Given the description of an element on the screen output the (x, y) to click on. 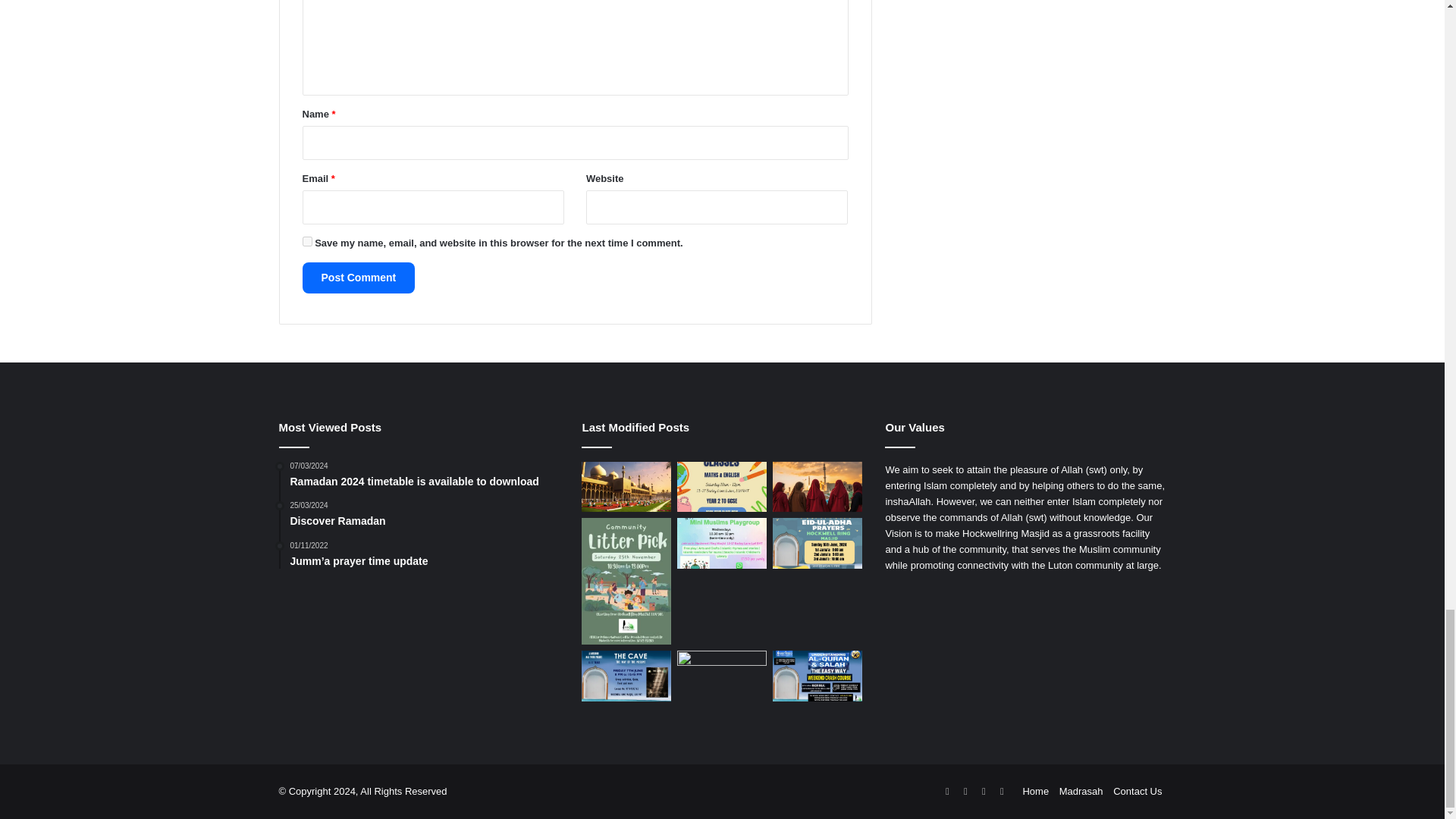
Post Comment (357, 277)
yes (306, 241)
